Given the description of an element on the screen output the (x, y) to click on. 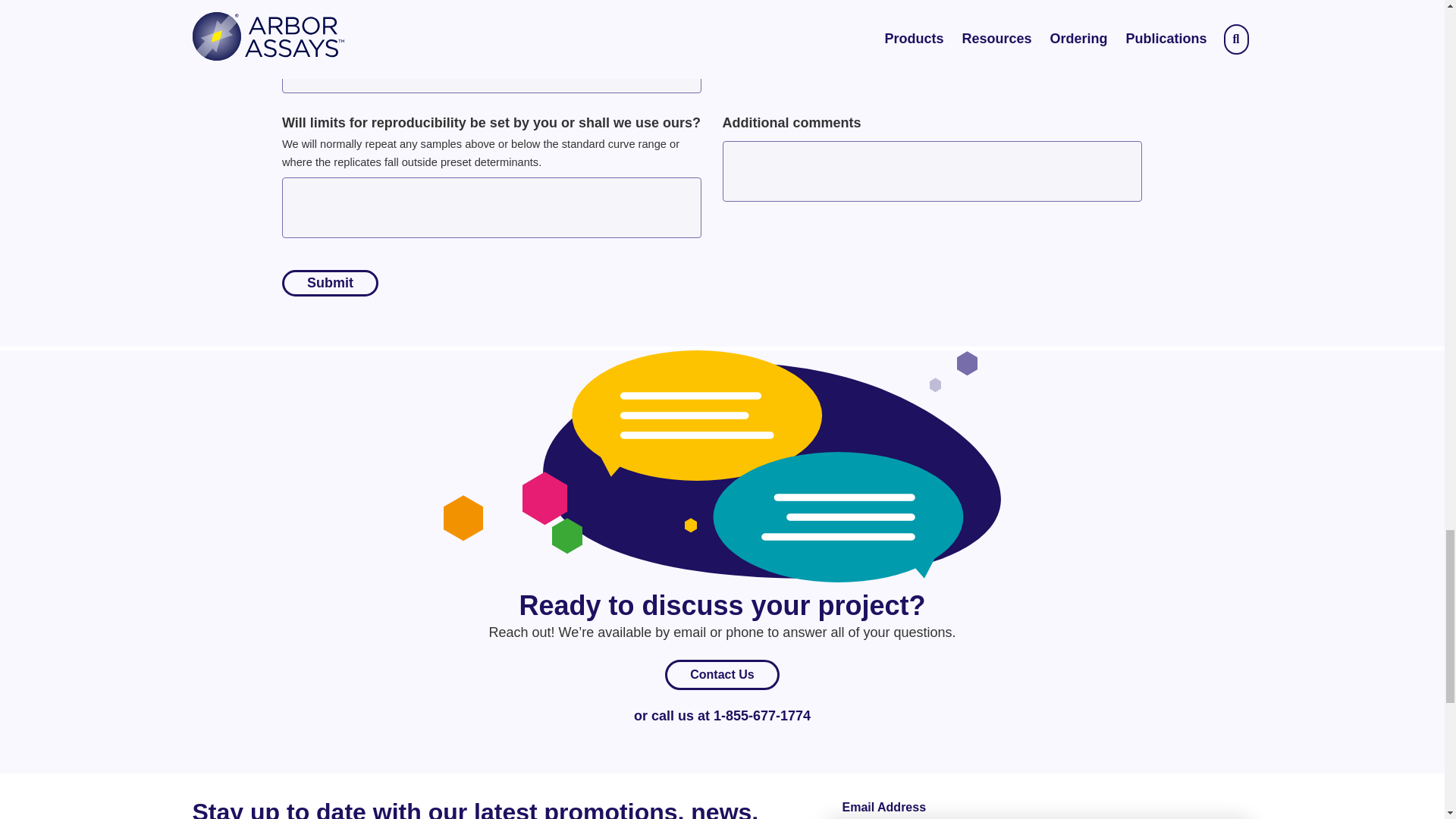
Submit (330, 283)
